Given the description of an element on the screen output the (x, y) to click on. 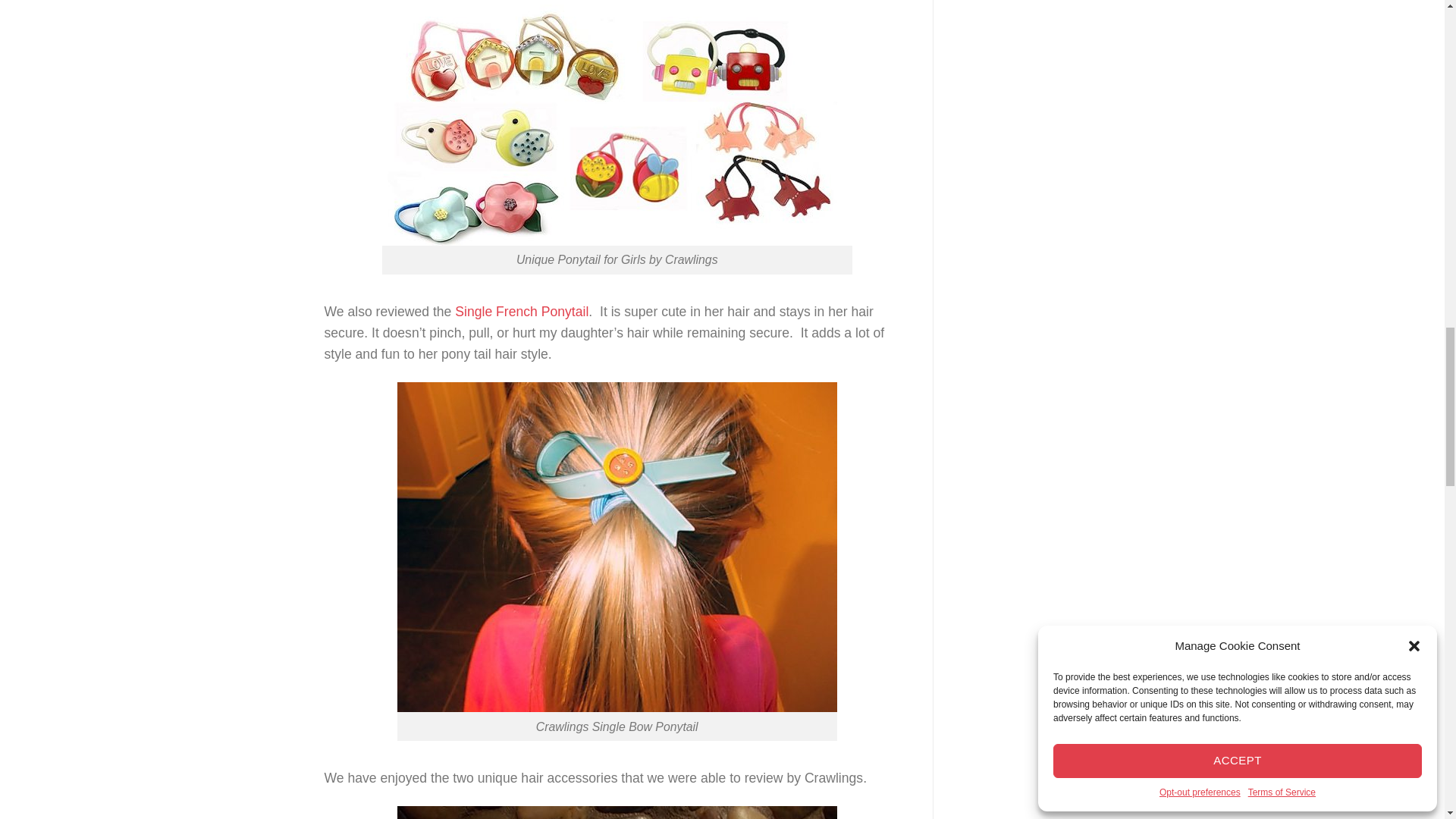
Unique Ponytail for Girls by Crawlings (616, 124)
Unique Hair Accessories for Girls by Crawlings (617, 812)
